Given the description of an element on the screen output the (x, y) to click on. 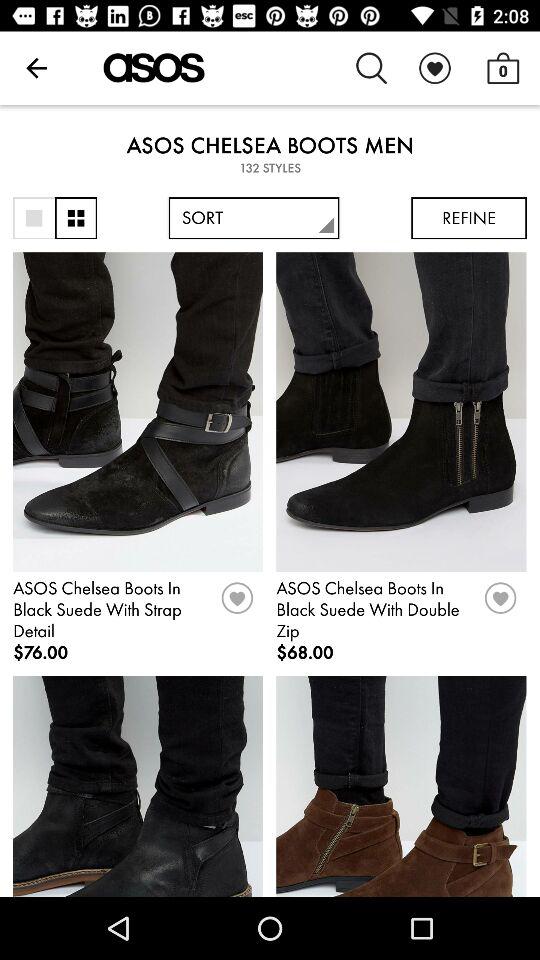
favorite this item (500, 605)
